Given the description of an element on the screen output the (x, y) to click on. 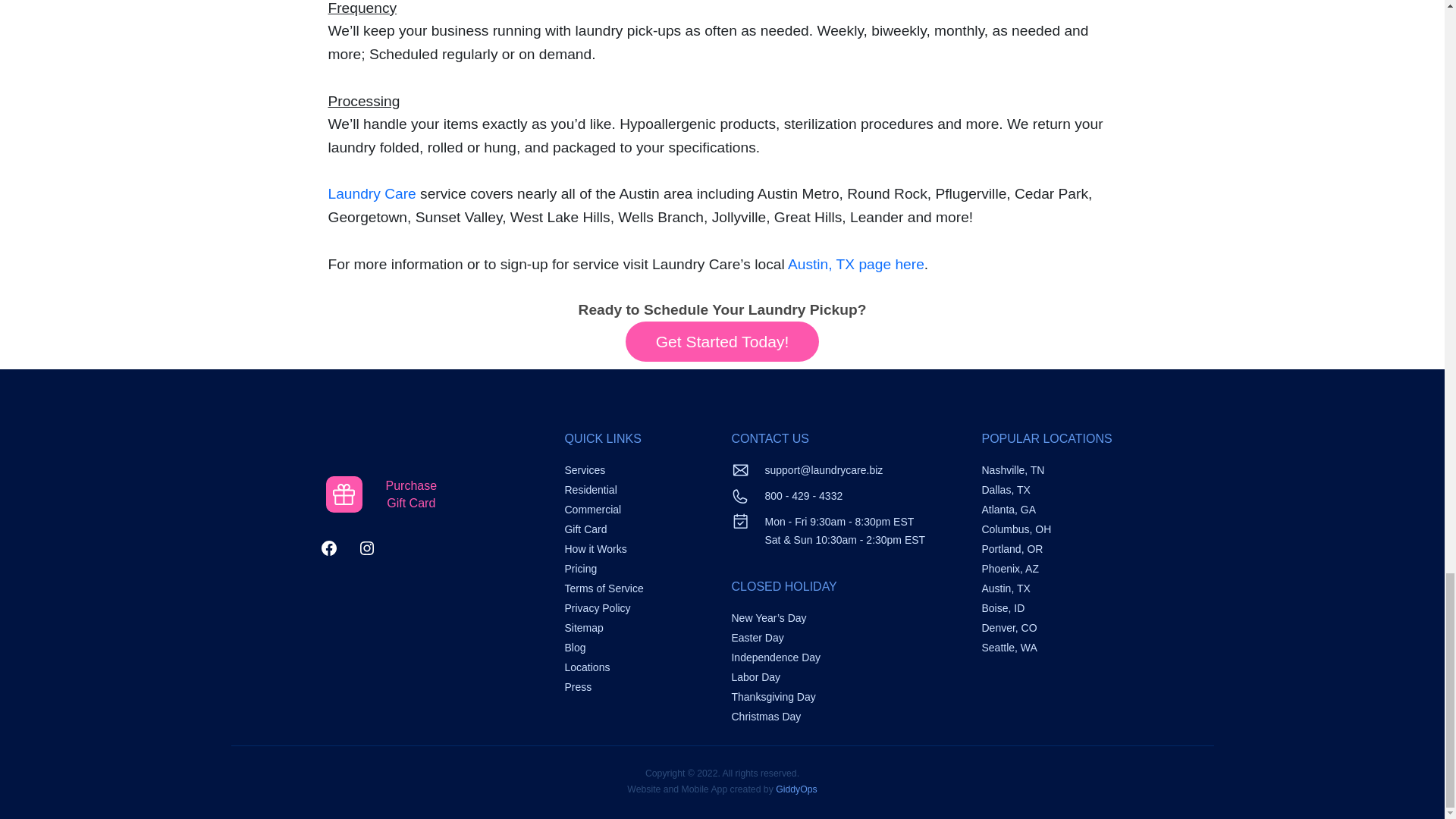
Commercial (592, 509)
Services (584, 469)
Pricing (580, 568)
Privacy Policy (597, 607)
Residential (381, 494)
How it Works (589, 490)
Gift Card (595, 548)
Austin, TX page here (585, 529)
Get Started Today! (855, 263)
Terms of Service (722, 341)
Laundry Care (603, 588)
